Given the description of an element on the screen output the (x, y) to click on. 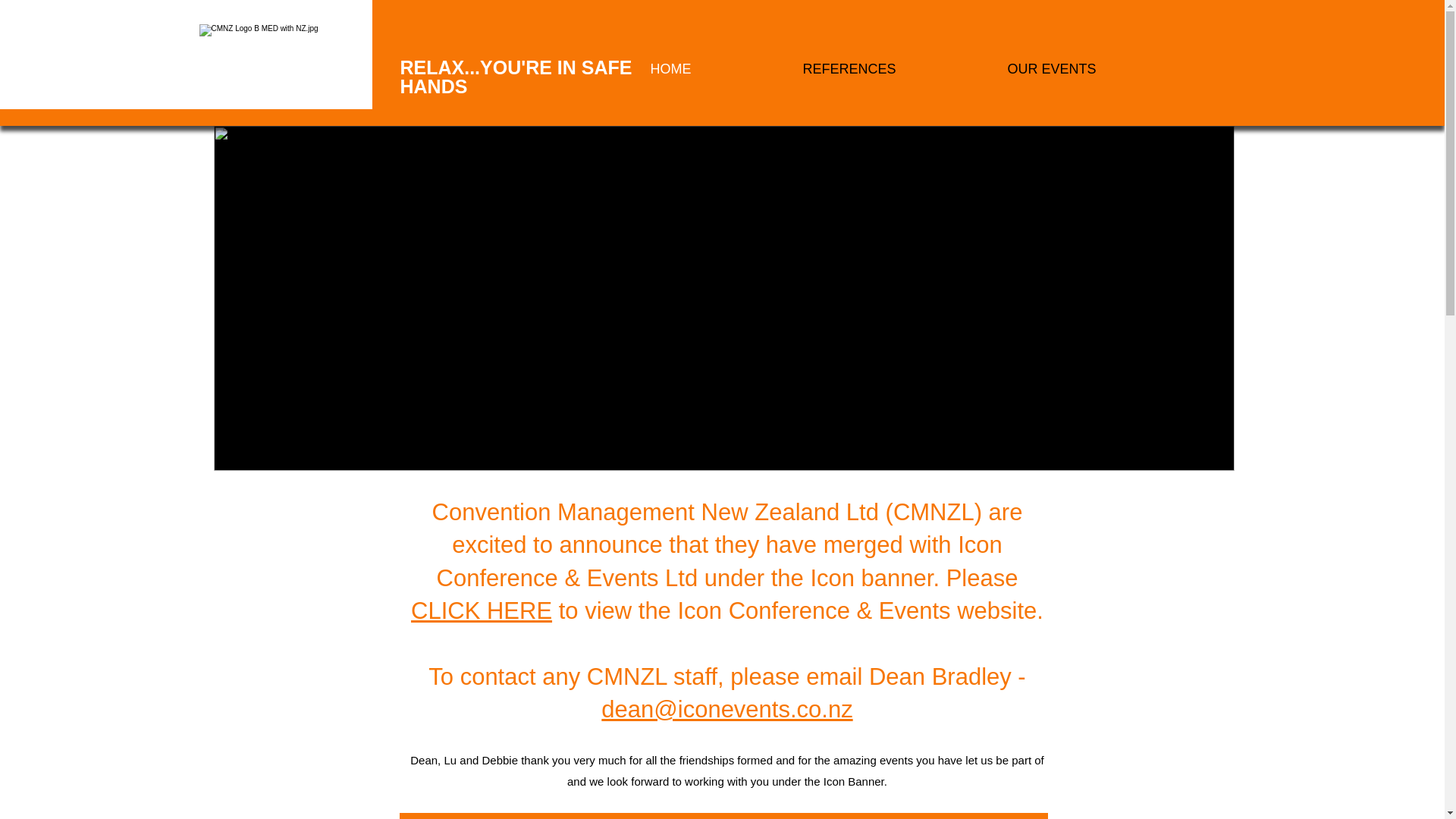
HOME (714, 68)
OUR EVENTS (1095, 68)
CLICK HERE (480, 610)
REFERENCES (893, 68)
